Given the description of an element on the screen output the (x, y) to click on. 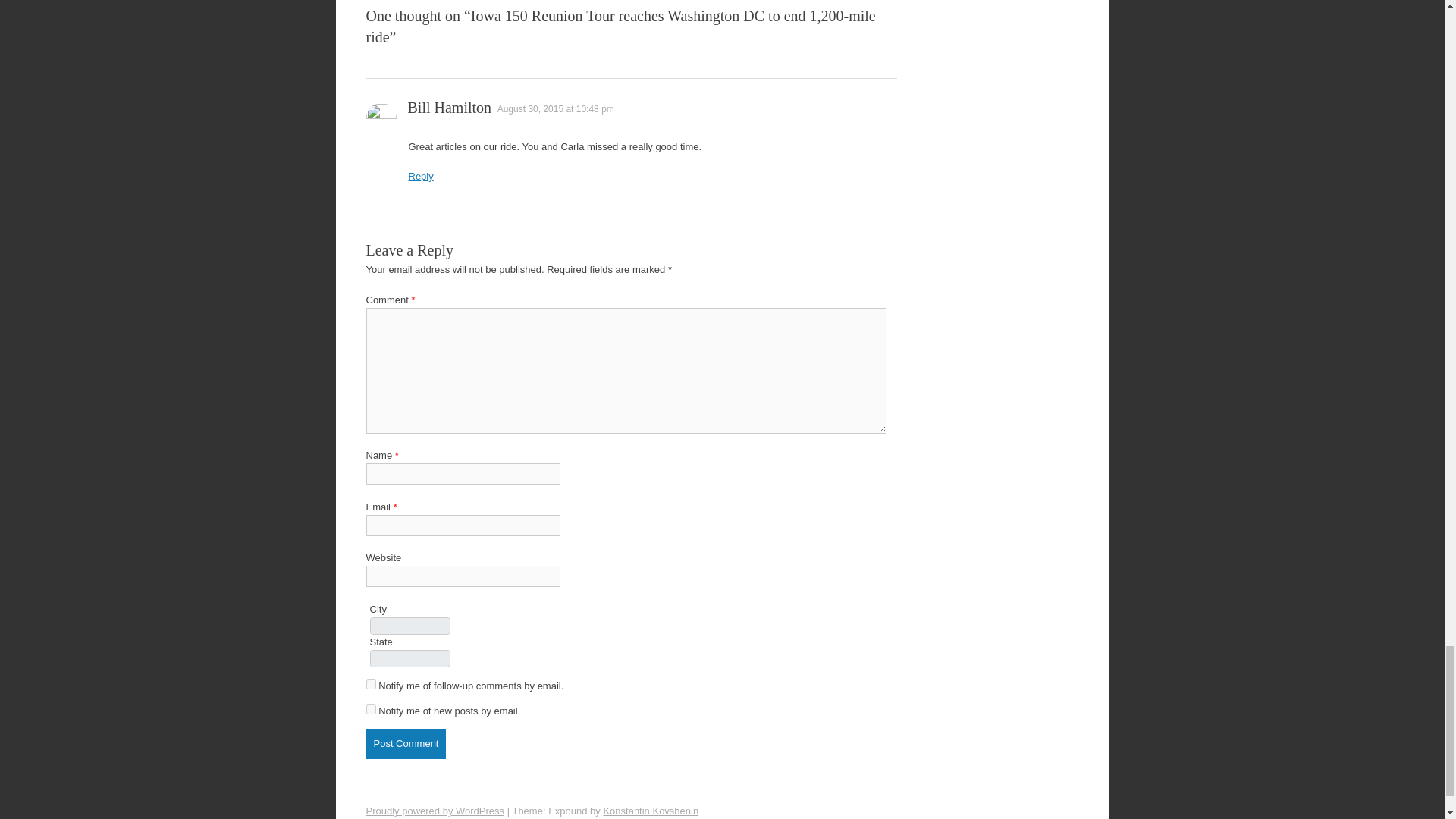
Reply (419, 175)
August 30, 2015 at 10:48 pm (555, 109)
Proudly powered by WordPress (434, 810)
Post Comment (405, 743)
Post Comment (405, 743)
subscribe (370, 709)
Konstantin Kovshenin (650, 810)
subscribe (370, 684)
